Given the description of an element on the screen output the (x, y) to click on. 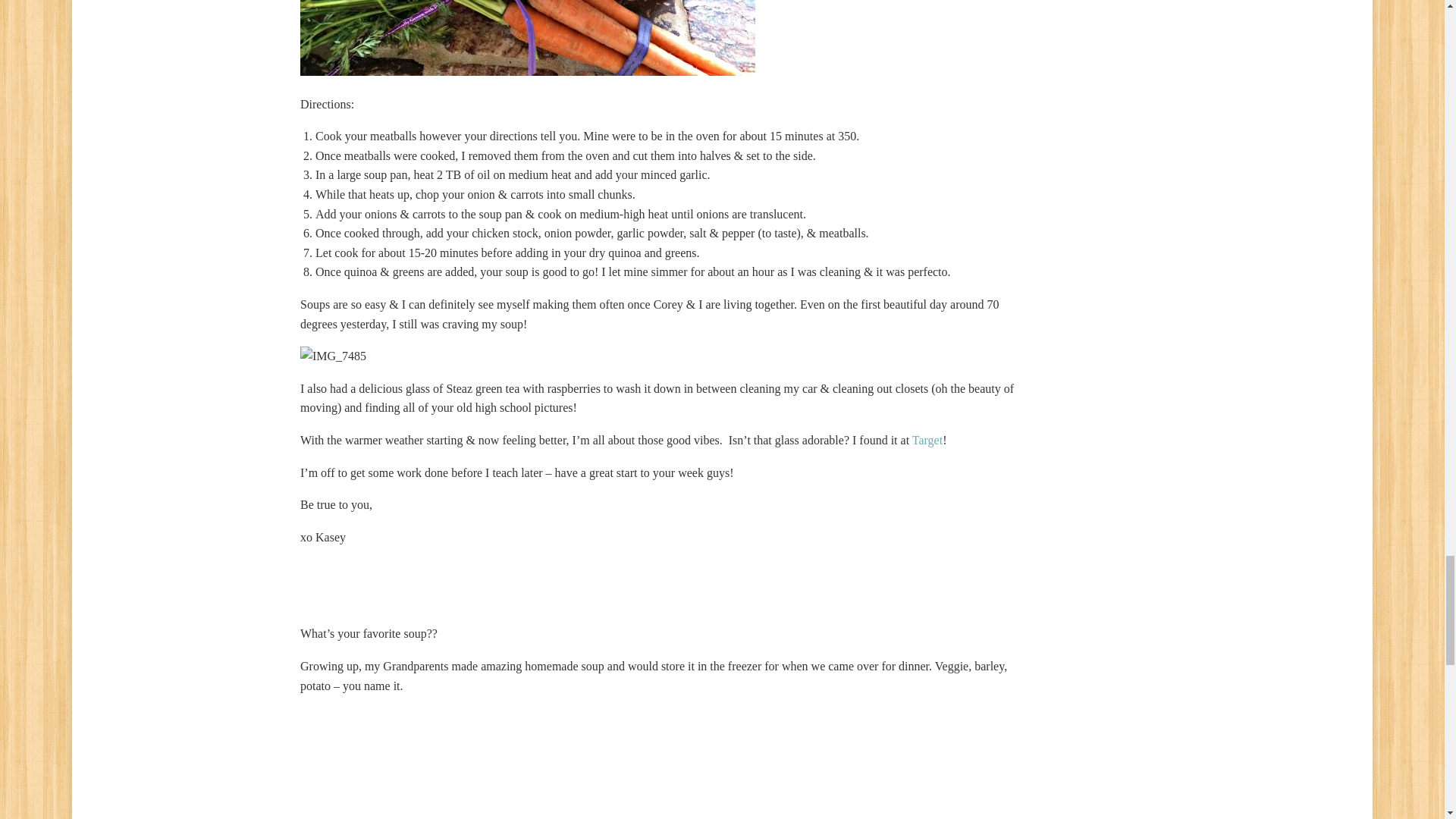
Target (927, 440)
